Given the description of an element on the screen output the (x, y) to click on. 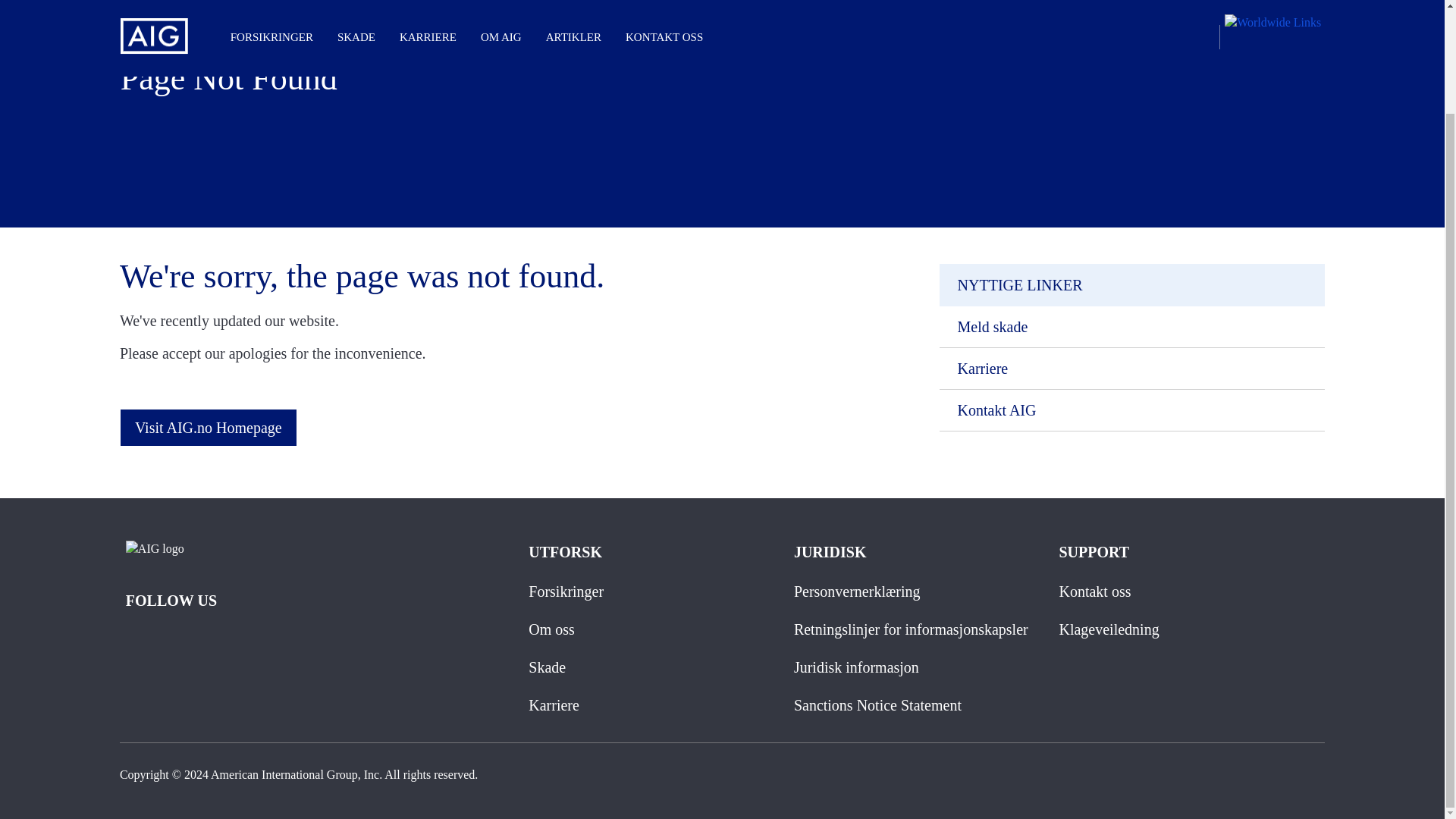
youtube (237, 641)
linkedin (204, 641)
facebook (137, 641)
instagram (170, 641)
